Given the description of an element on the screen output the (x, y) to click on. 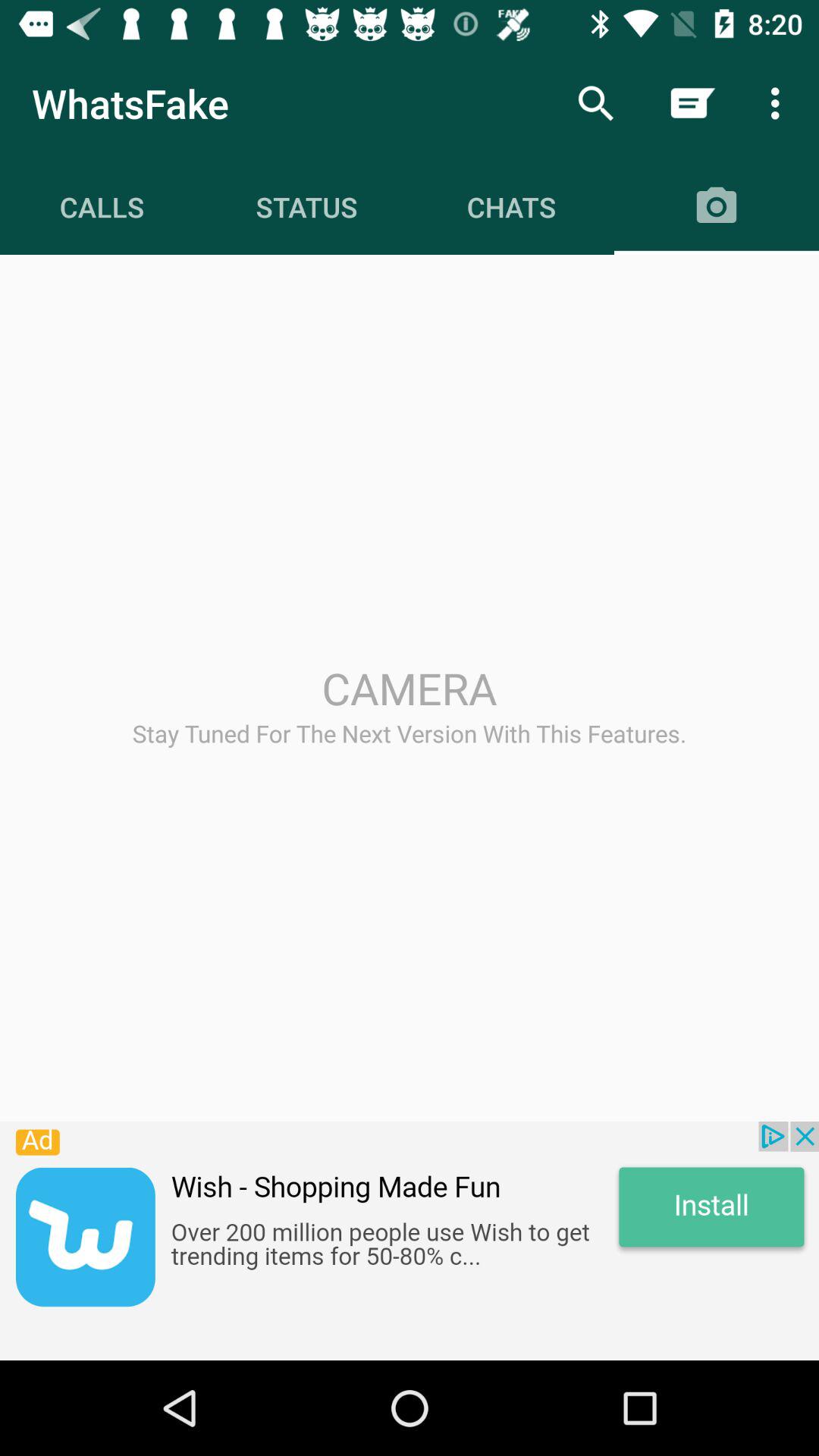
advertisement link (409, 1240)
